Given the description of an element on the screen output the (x, y) to click on. 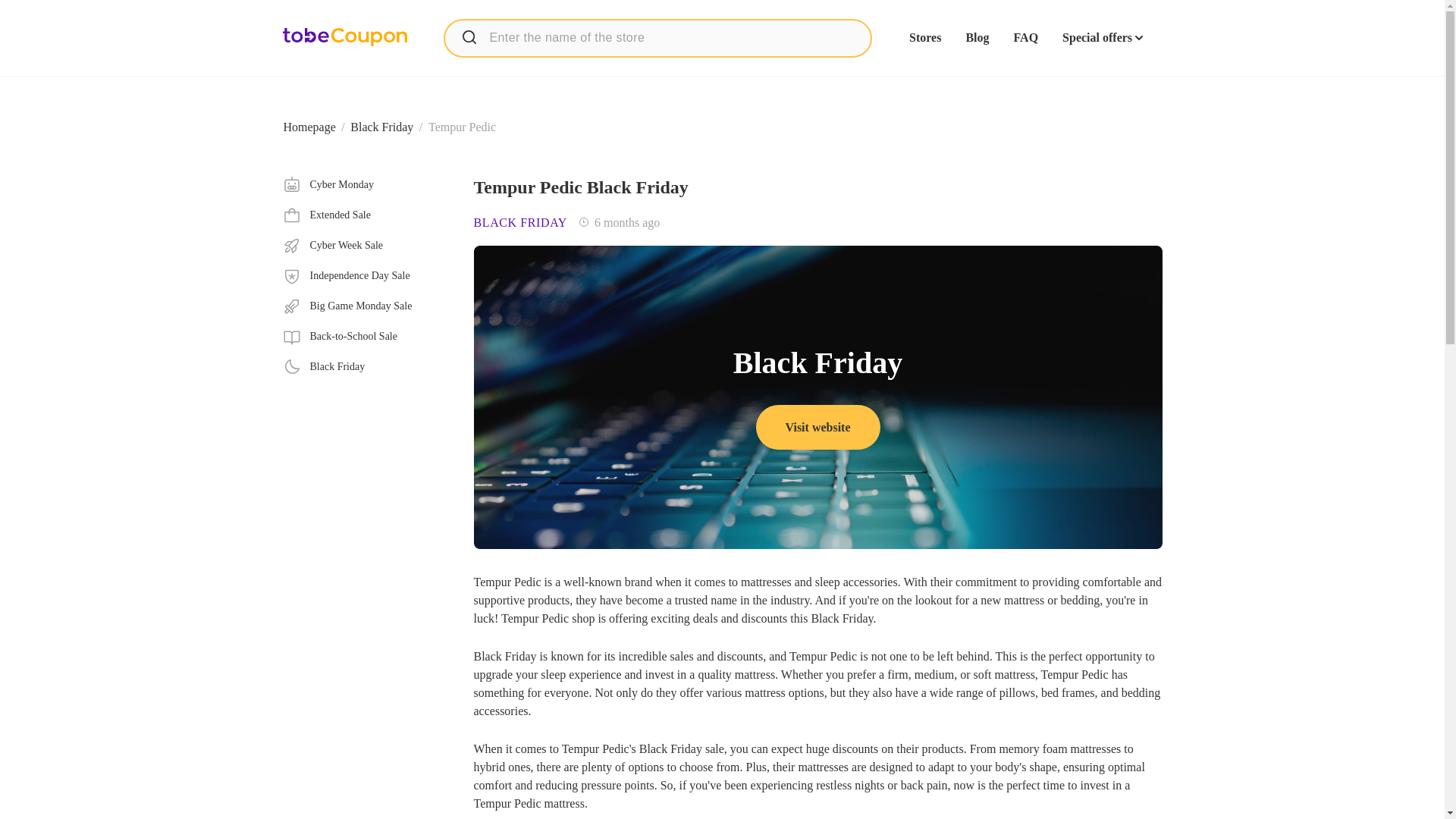
Blog (976, 37)
Homepage (309, 126)
Independence Day Sale (365, 275)
FAQ (1025, 37)
Back-to-School Sale (365, 336)
Big Game Monday Sale (365, 306)
Search (469, 37)
BLACK FRIDAY (520, 222)
Cyber Week Sale (365, 245)
Stores (924, 37)
Black Friday (365, 366)
Extended Sale (365, 215)
Visit website (817, 426)
Black Friday (381, 126)
Cyber Monday (365, 185)
